Given the description of an element on the screen output the (x, y) to click on. 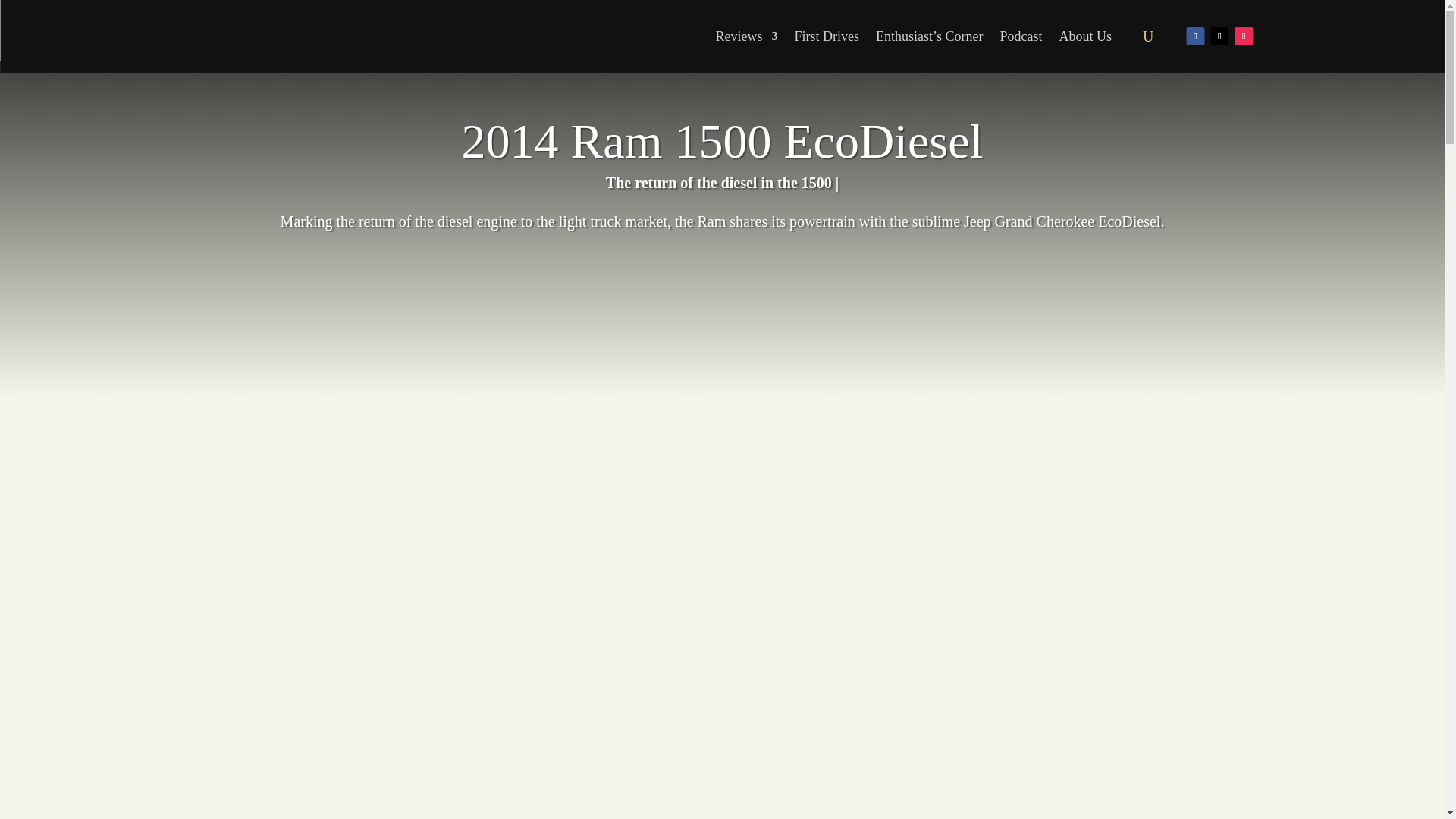
Follow on Instagram (1243, 35)
Reviews (746, 36)
Follow on X (1218, 35)
First Drives (827, 36)
About Us (1085, 36)
Follow on Facebook (1195, 35)
